Given the description of an element on the screen output the (x, y) to click on. 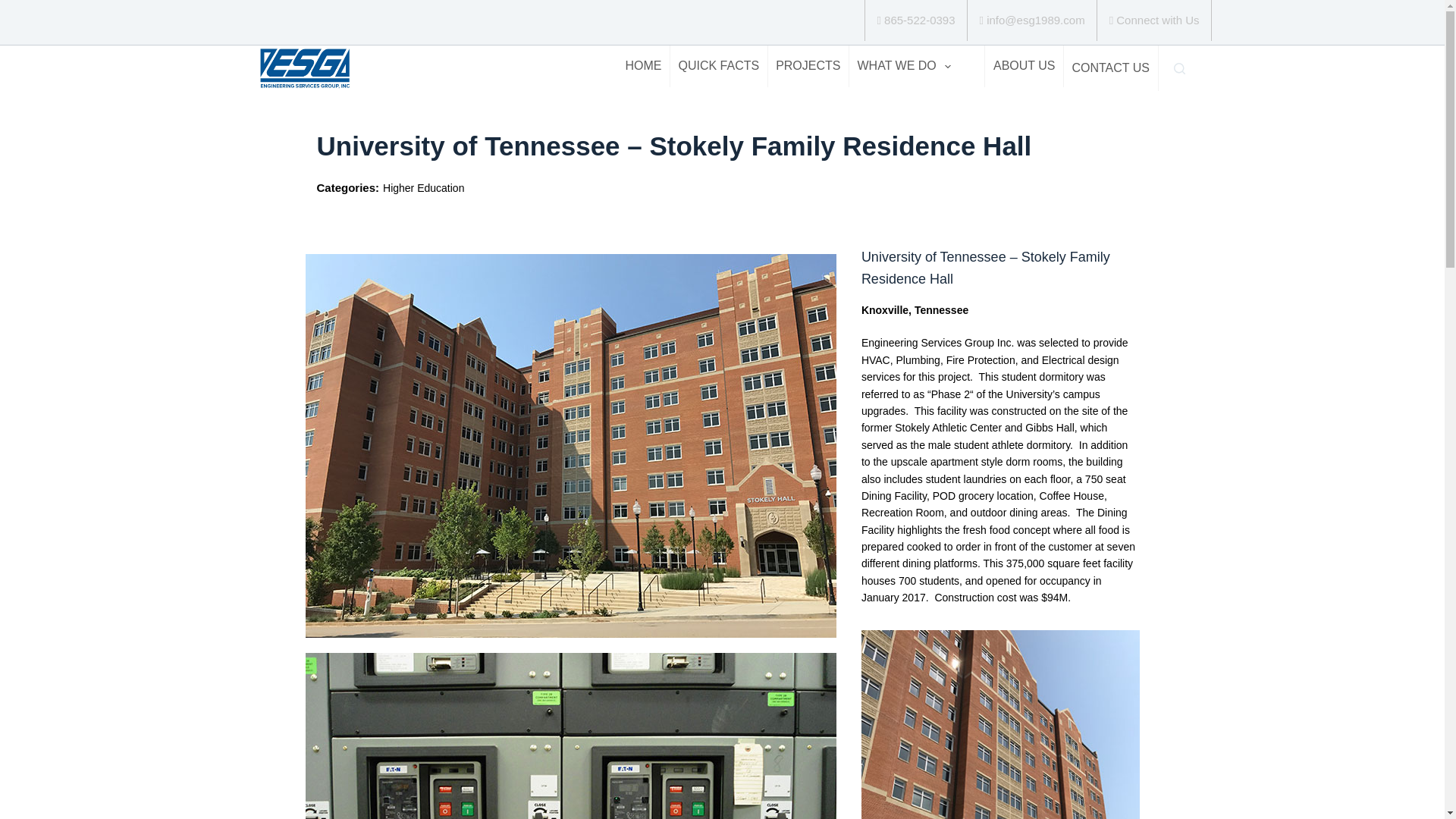
CONTACT US (1110, 67)
PROJECTS (808, 65)
HOME (643, 65)
Skip to content (15, 7)
ABOUT US (1023, 65)
WHAT WE DO (903, 65)
Connect with Us (1154, 19)
QUICK FACTS (718, 65)
